Given the description of an element on the screen output the (x, y) to click on. 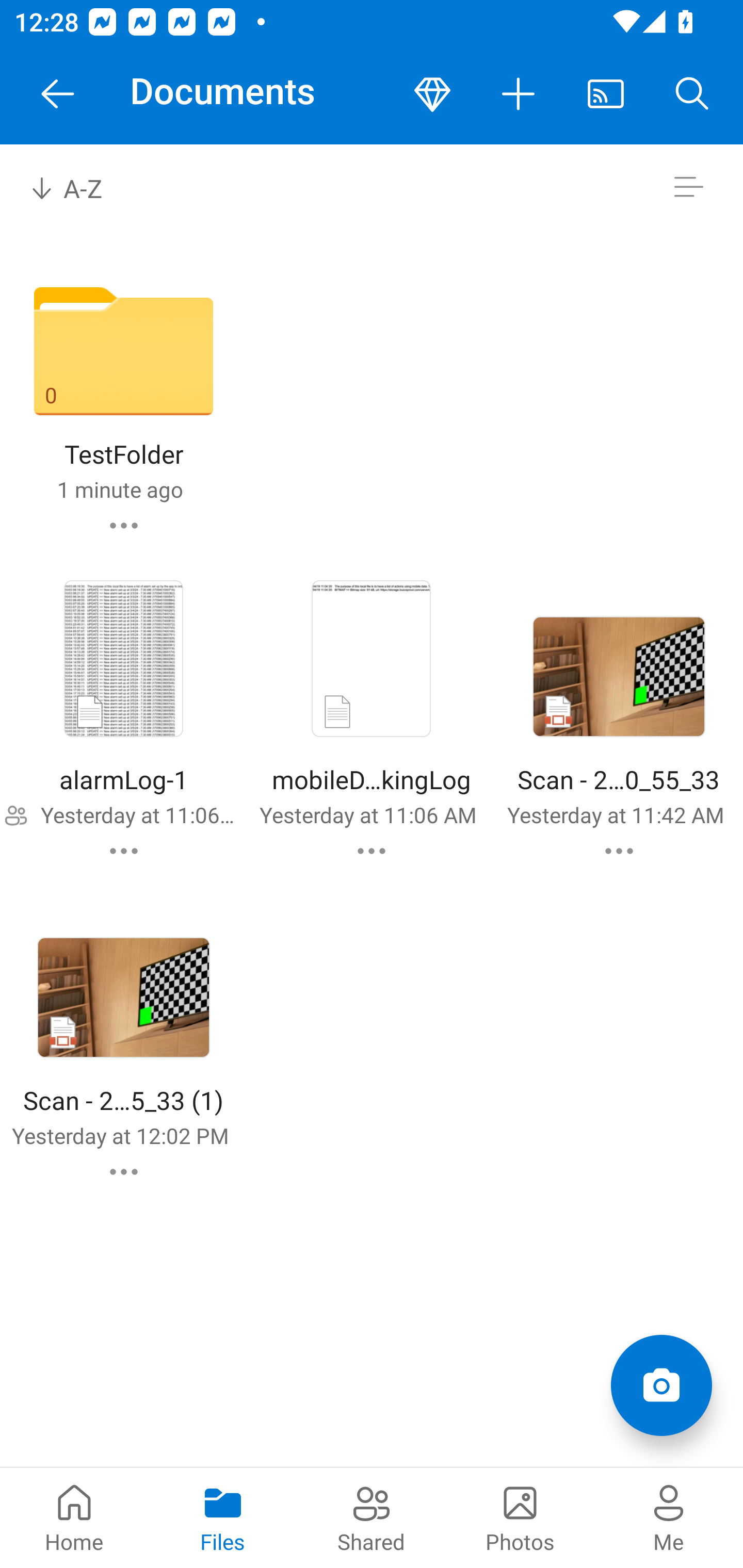
Navigate Up (57, 93)
Cast. Disconnected (605, 93)
Premium button (432, 93)
More actions button (518, 93)
Search button (692, 93)
A-Z Sort by combo box, sort by name, A to Z (80, 187)
Switch to list view (688, 187)
1 minute ago (120, 489)
TestFolder commands (123, 525)
Yesterday at 11:06 AM (137, 814)
Yesterday at 11:06 AM (367, 814)
Yesterday at 11:42 AM (614, 814)
alarmLog-1 commands (123, 851)
mobileDataTrackingLog commands (371, 851)
Scan - 2024-03-28 10_55_33 commands (618, 851)
Yesterday at 12:02 PM (119, 1135)
Scan - 2024-03-28 10_55_33 (1) commands (123, 1171)
Add items Scan (660, 1385)
Home pivot Home (74, 1517)
Shared pivot Shared (371, 1517)
Photos pivot Photos (519, 1517)
Me pivot Me (668, 1517)
